Given the description of an element on the screen output the (x, y) to click on. 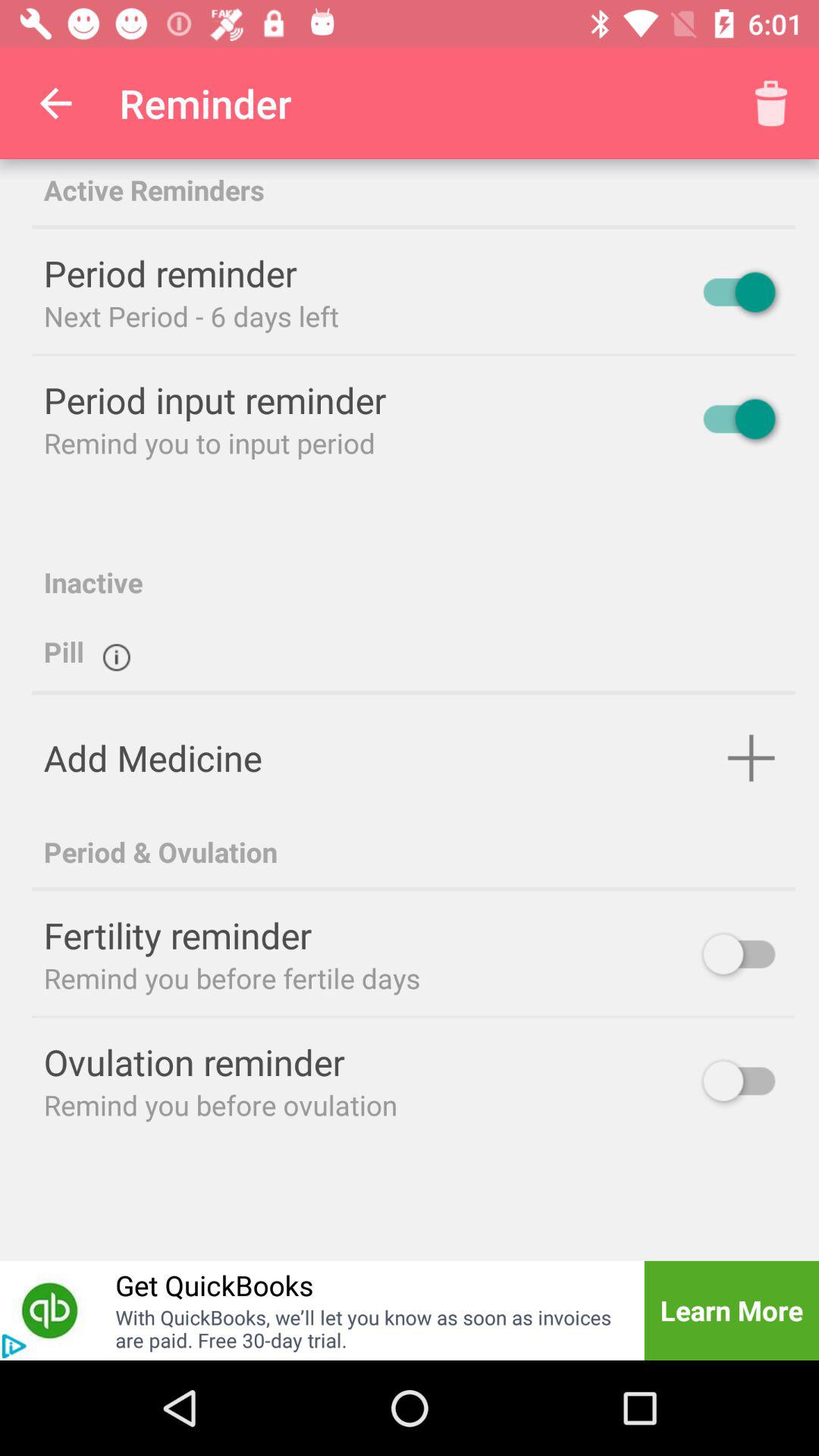
open link to advertisement (49, 1310)
